Given the description of an element on the screen output the (x, y) to click on. 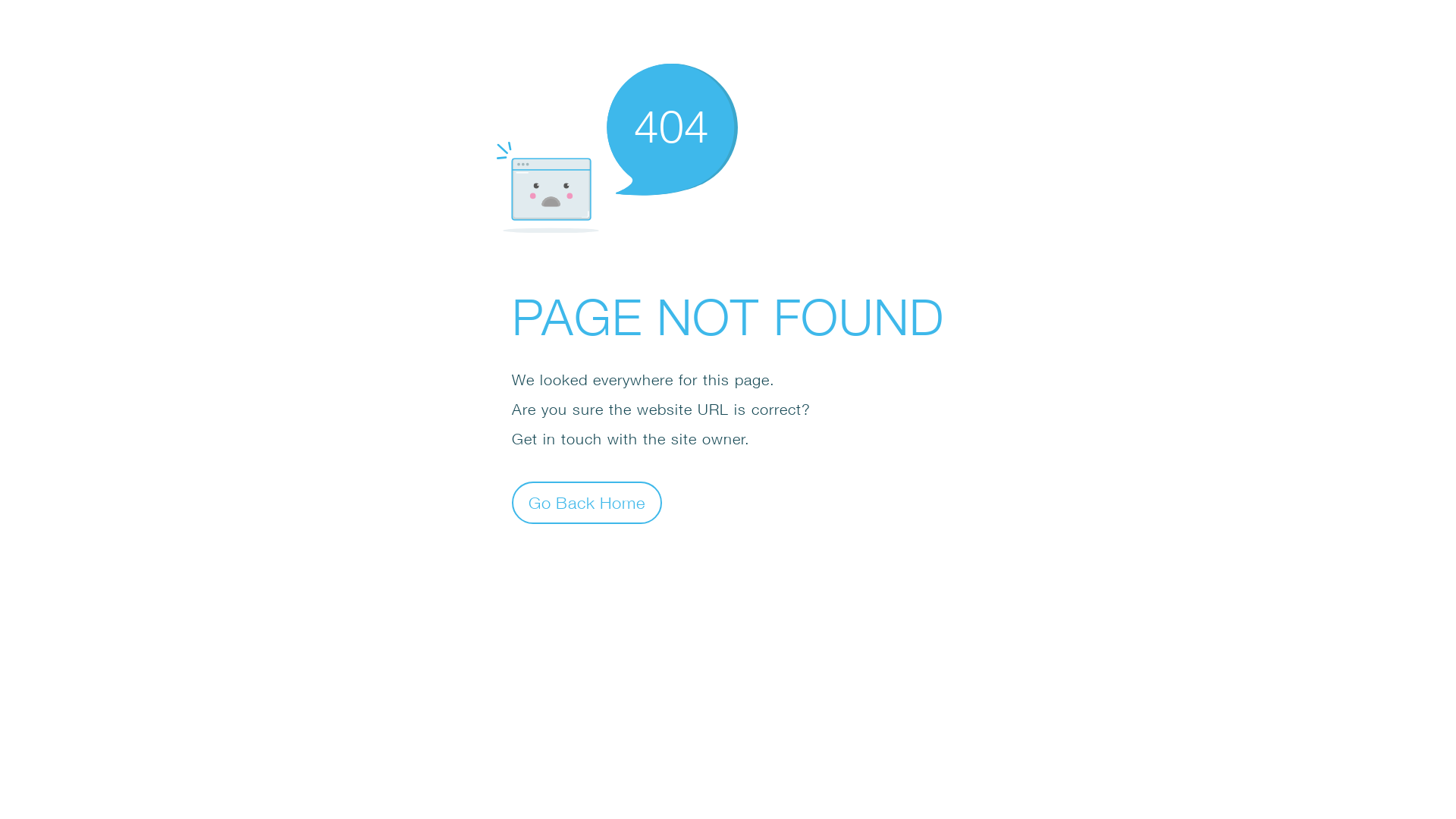
Go Back Home Element type: text (586, 502)
